Given the description of an element on the screen output the (x, y) to click on. 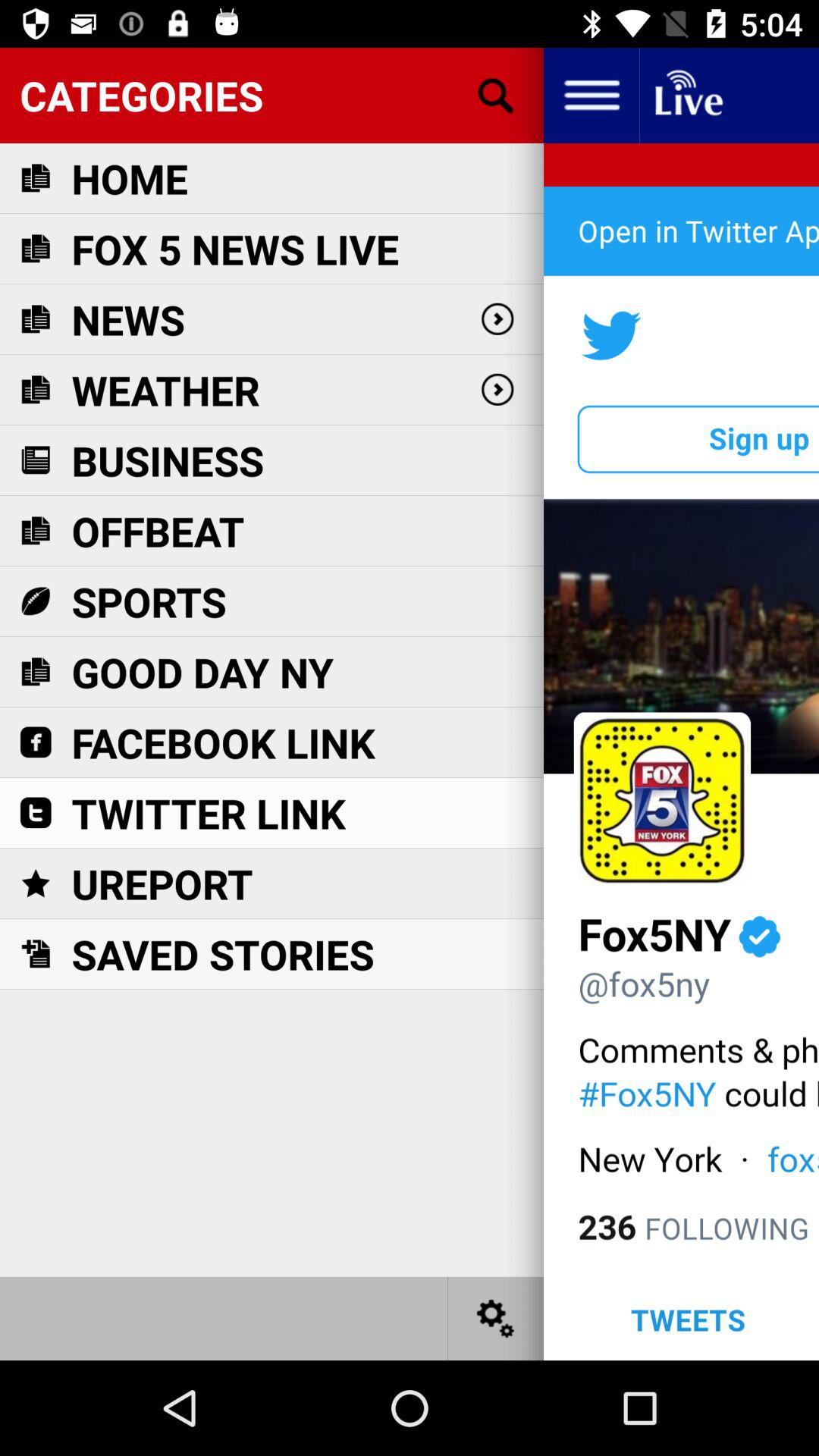
change settings (495, 1318)
